Given the description of an element on the screen output the (x, y) to click on. 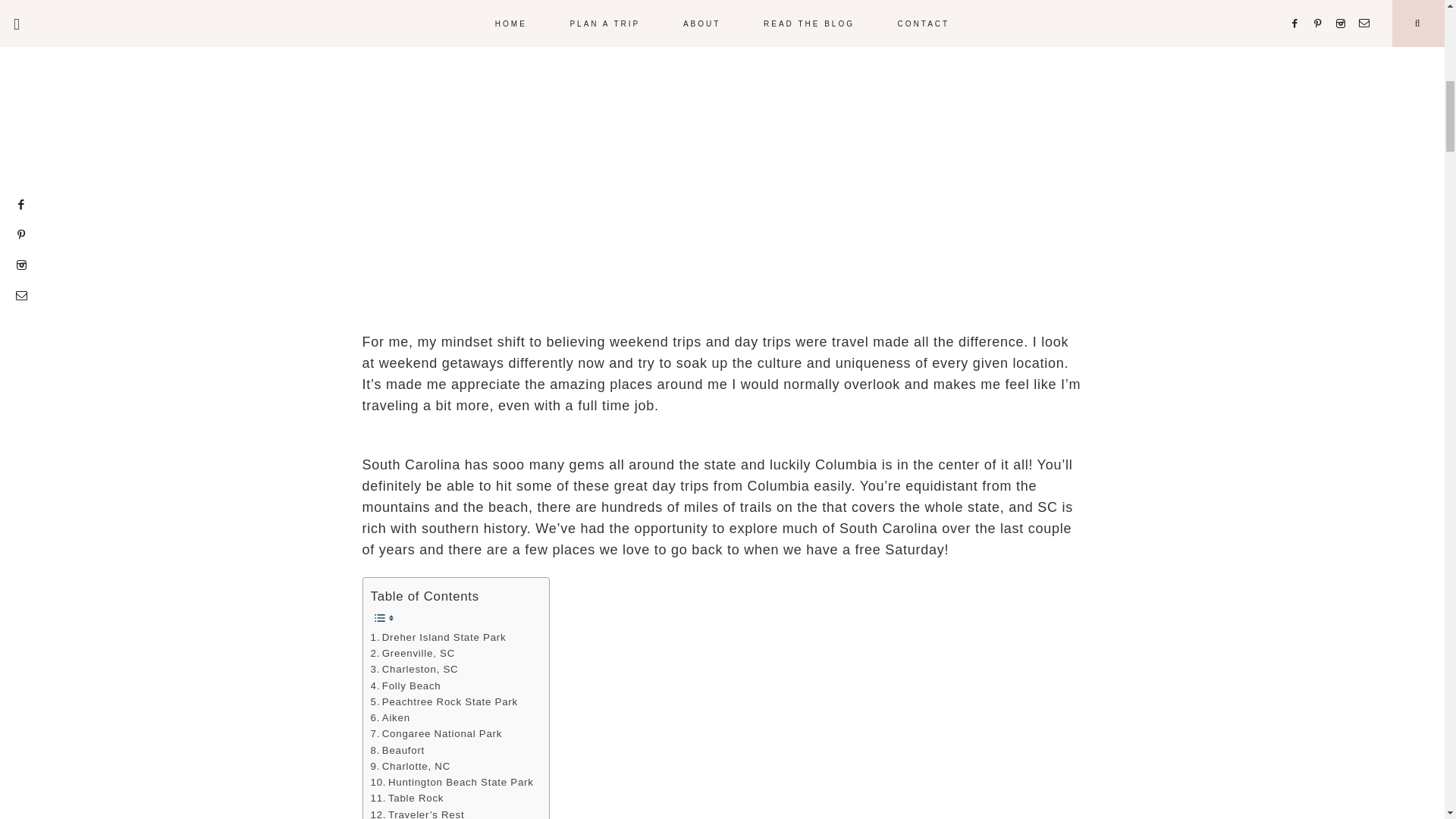
Congaree National Park (435, 733)
Greenville, SC  (413, 652)
Beaufort (397, 750)
Charleston, SC (413, 668)
Folly Beach (405, 685)
Peachtree Rock State Park (442, 701)
Peachtree Rock State Park (442, 701)
Dreher Island State Park (437, 637)
Beaufort (397, 750)
Charlotte, NC (409, 765)
Charleston, SC (413, 668)
Aiken (389, 717)
Folly Beach (405, 685)
Huntington Beach State Park (450, 781)
